Given the description of an element on the screen output the (x, y) to click on. 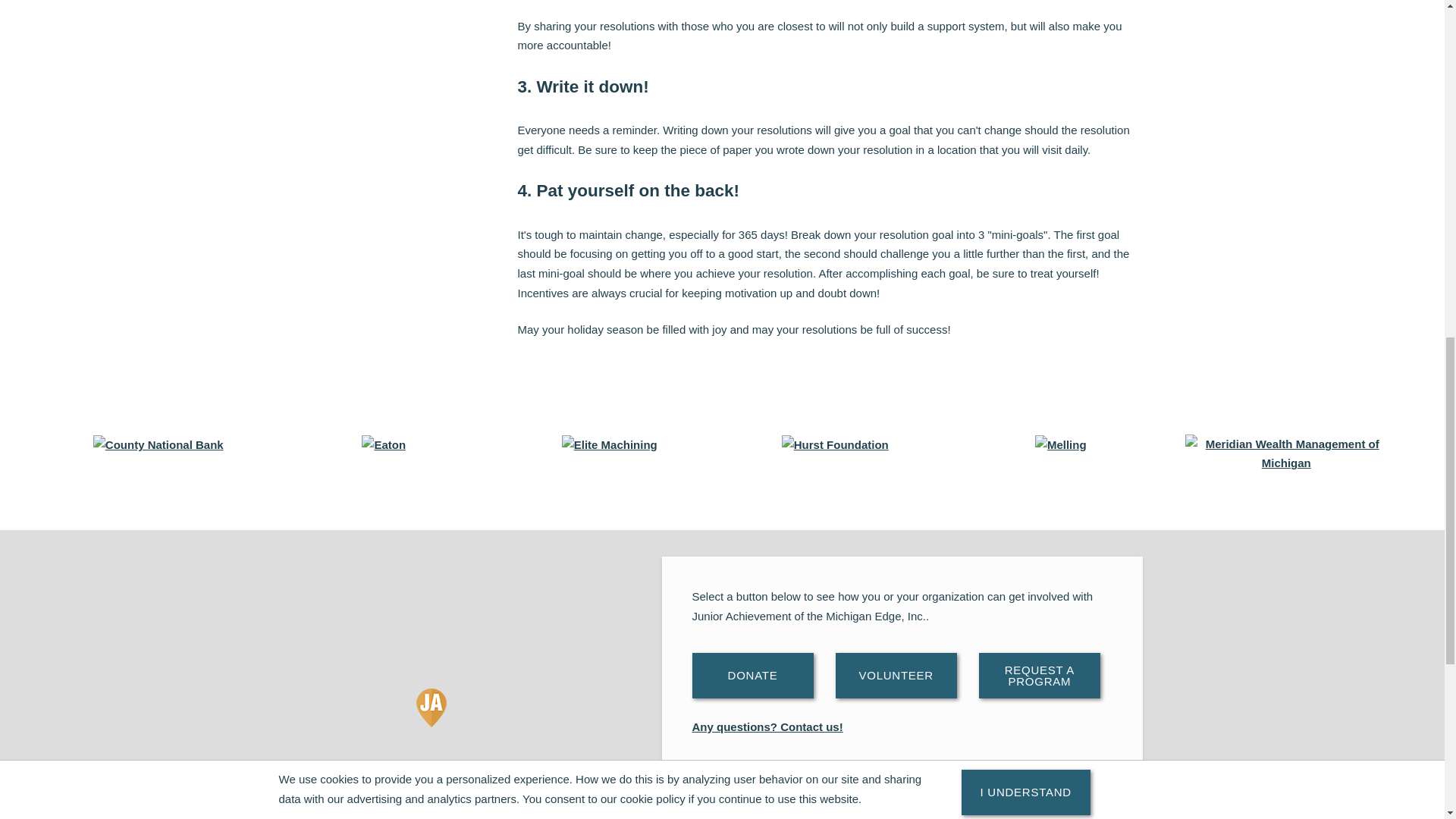
DONATE (751, 675)
REQUEST A PROGRAM (1039, 675)
VOLUNTEER (895, 675)
